Given the description of an element on the screen output the (x, y) to click on. 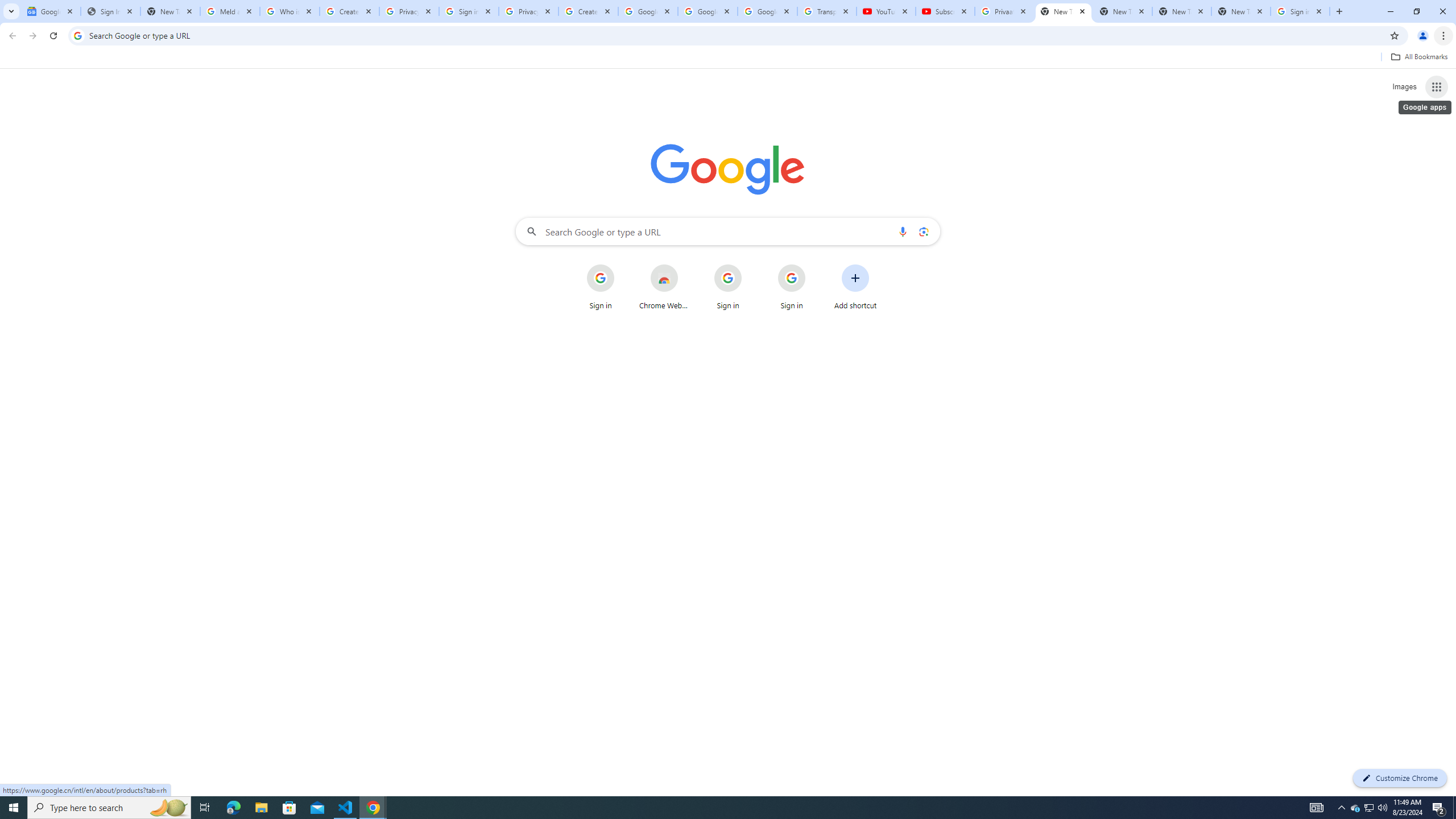
YouTube (885, 11)
